Given the description of an element on the screen output the (x, y) to click on. 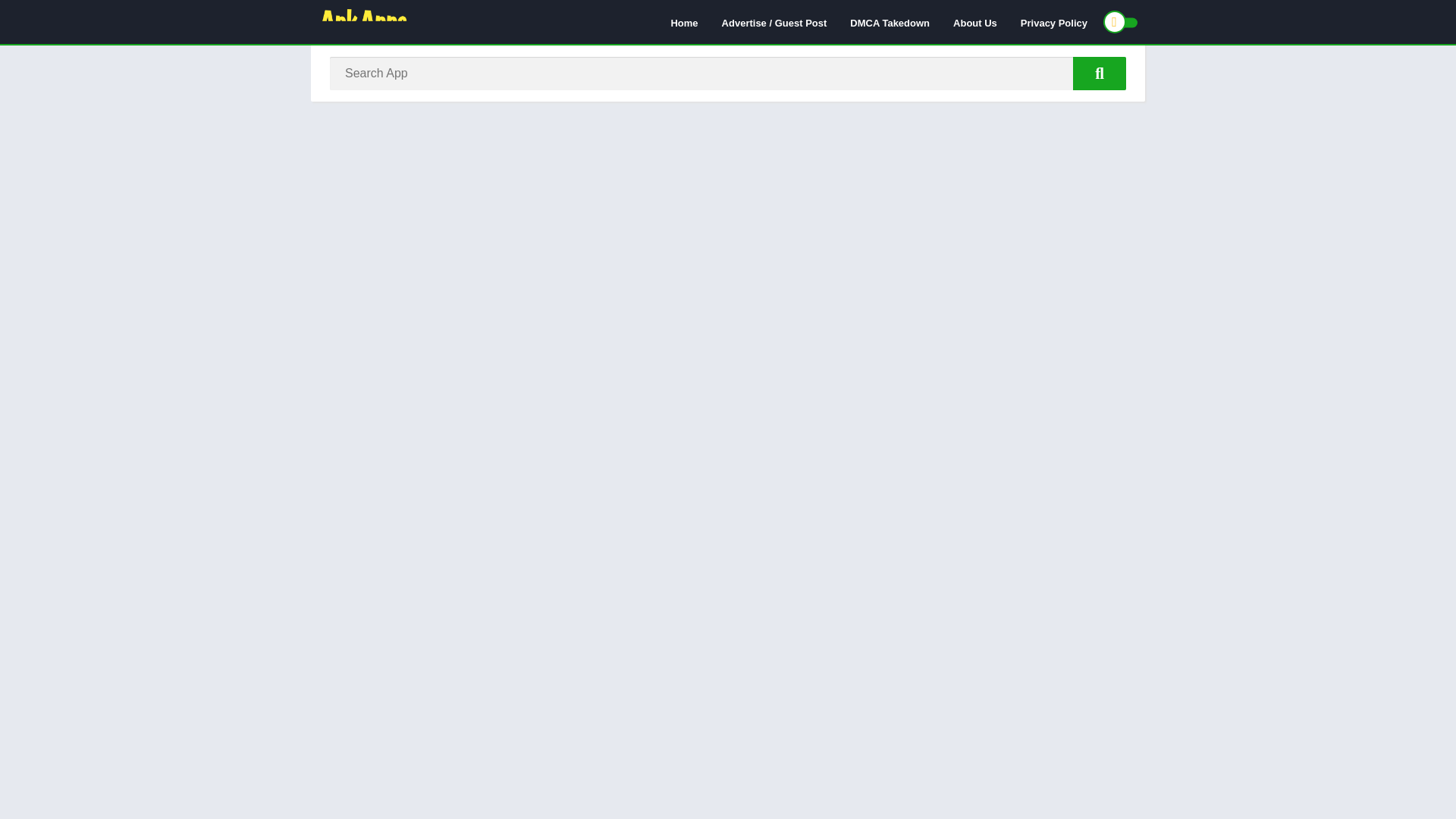
About Us (975, 22)
DMCA Takedown (889, 22)
Search App (1099, 73)
Privacy Policy (1054, 22)
Home (684, 22)
